Given the description of an element on the screen output the (x, y) to click on. 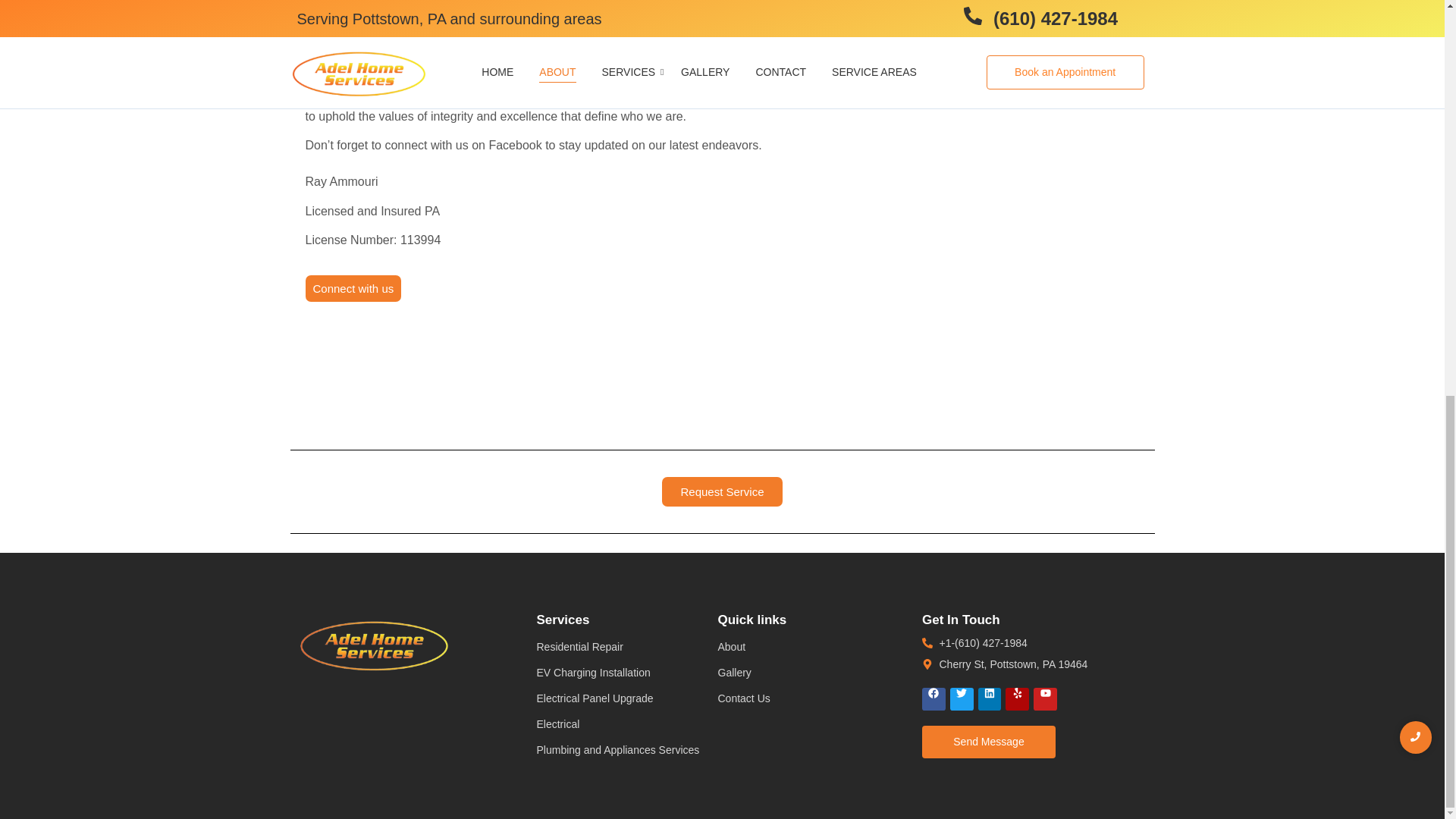
EV Charging Installation (593, 672)
Residential Repair (580, 646)
Gallery (734, 672)
Request Service (535, 210)
Connect with us (721, 491)
Contact Us (352, 288)
Plumbing and Appliances Services (743, 698)
Electrical (535, 210)
